Given the description of an element on the screen output the (x, y) to click on. 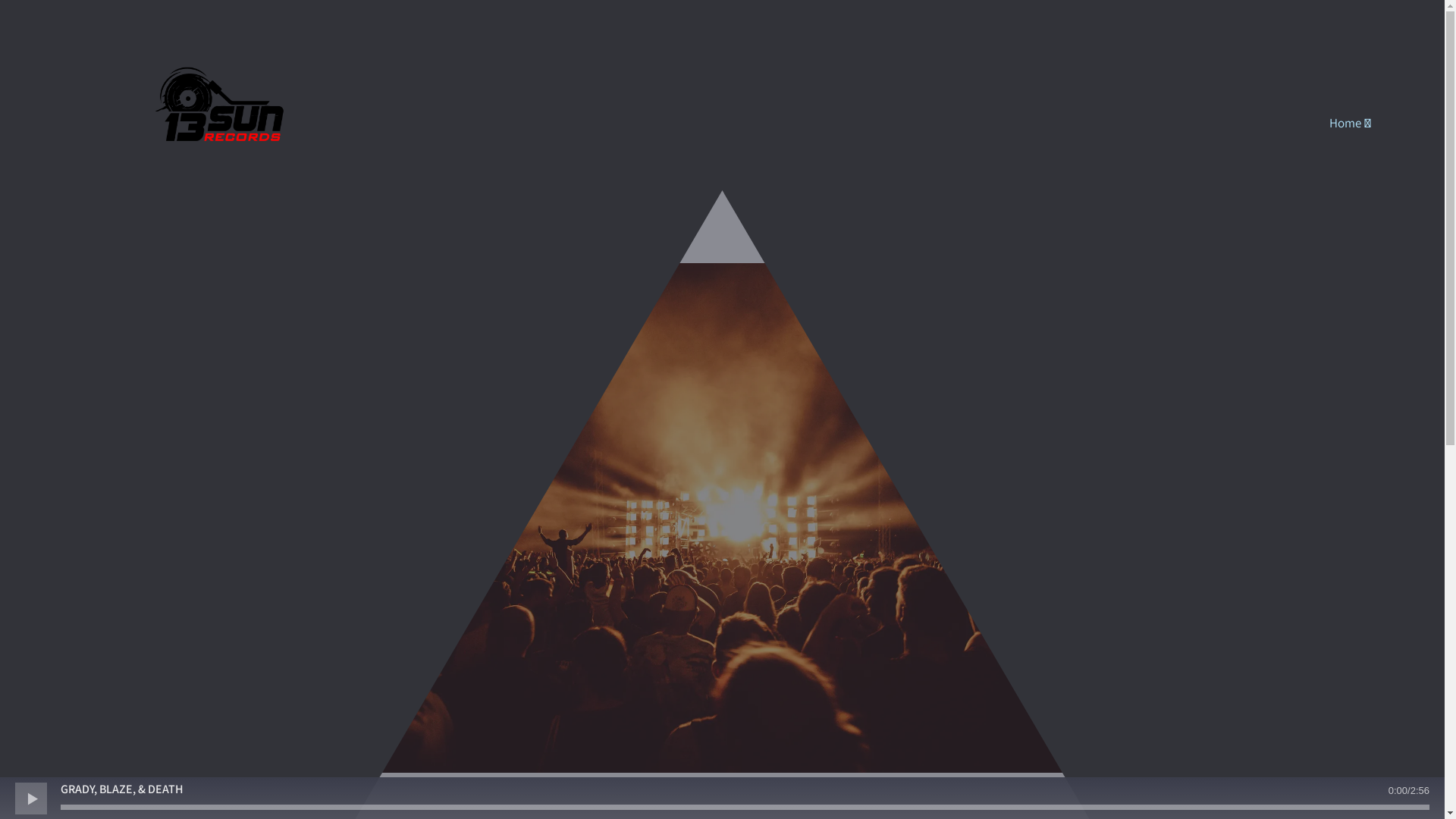
Play Element type: hover (30, 797)
Home Element type: text (1350, 122)
